Given the description of an element on the screen output the (x, y) to click on. 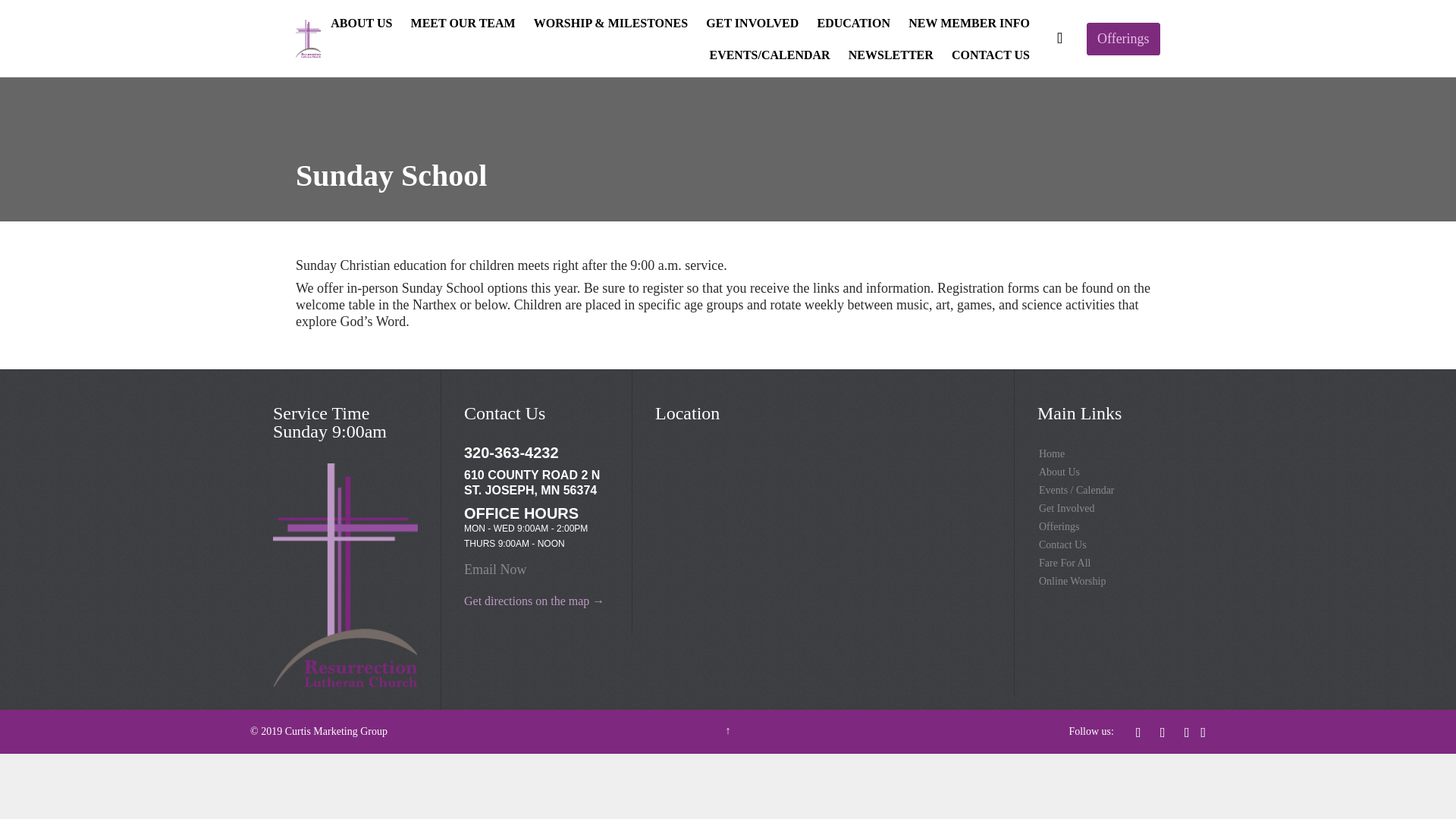
Get Involved (1109, 508)
Fare For All (1109, 563)
Home (1109, 454)
Contact Us (1109, 545)
Offerings (1109, 526)
About Us (1109, 472)
Curtis Marketing Group (336, 731)
NEW MEMBER INFO (968, 24)
Offerings (1123, 38)
